Given the description of an element on the screen output the (x, y) to click on. 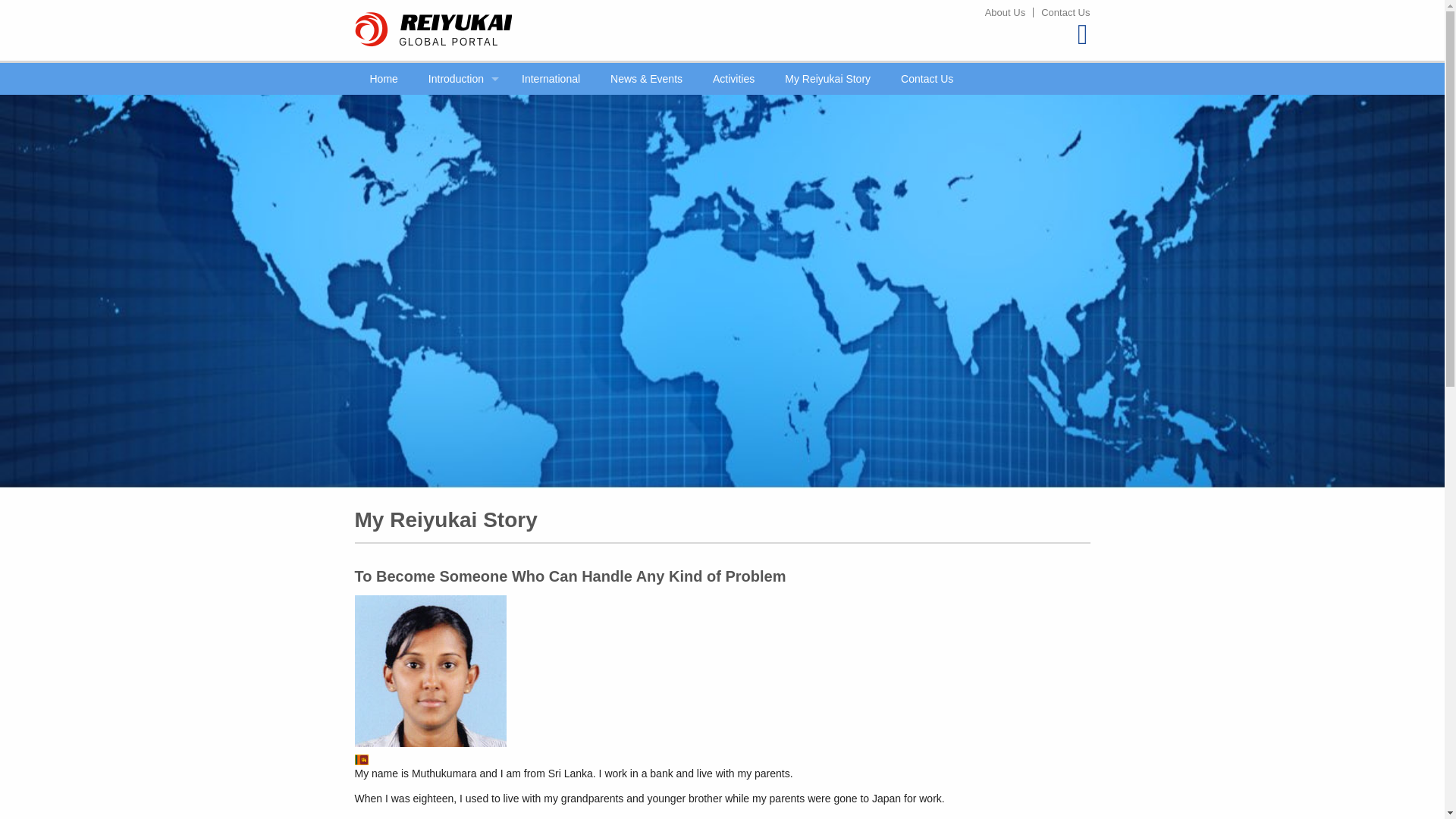
My Reiyukai Story (827, 79)
Introduction (459, 79)
About Us (1004, 12)
Contact Us (1061, 12)
Activities (733, 79)
International (550, 79)
Contact Us (926, 79)
Home (384, 79)
